Given the description of an element on the screen output the (x, y) to click on. 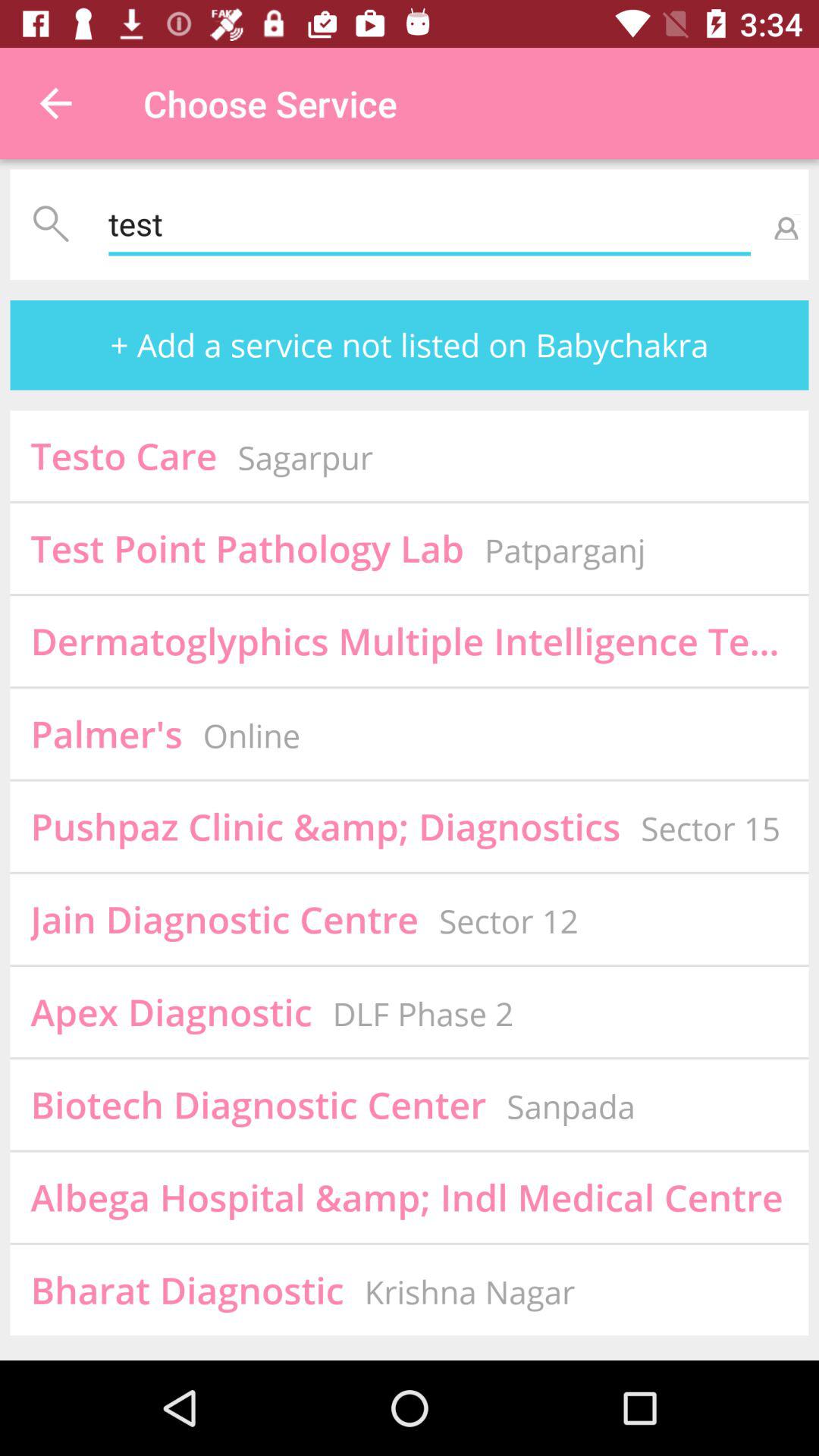
open the item above test point pathology (305, 457)
